Given the description of an element on the screen output the (x, y) to click on. 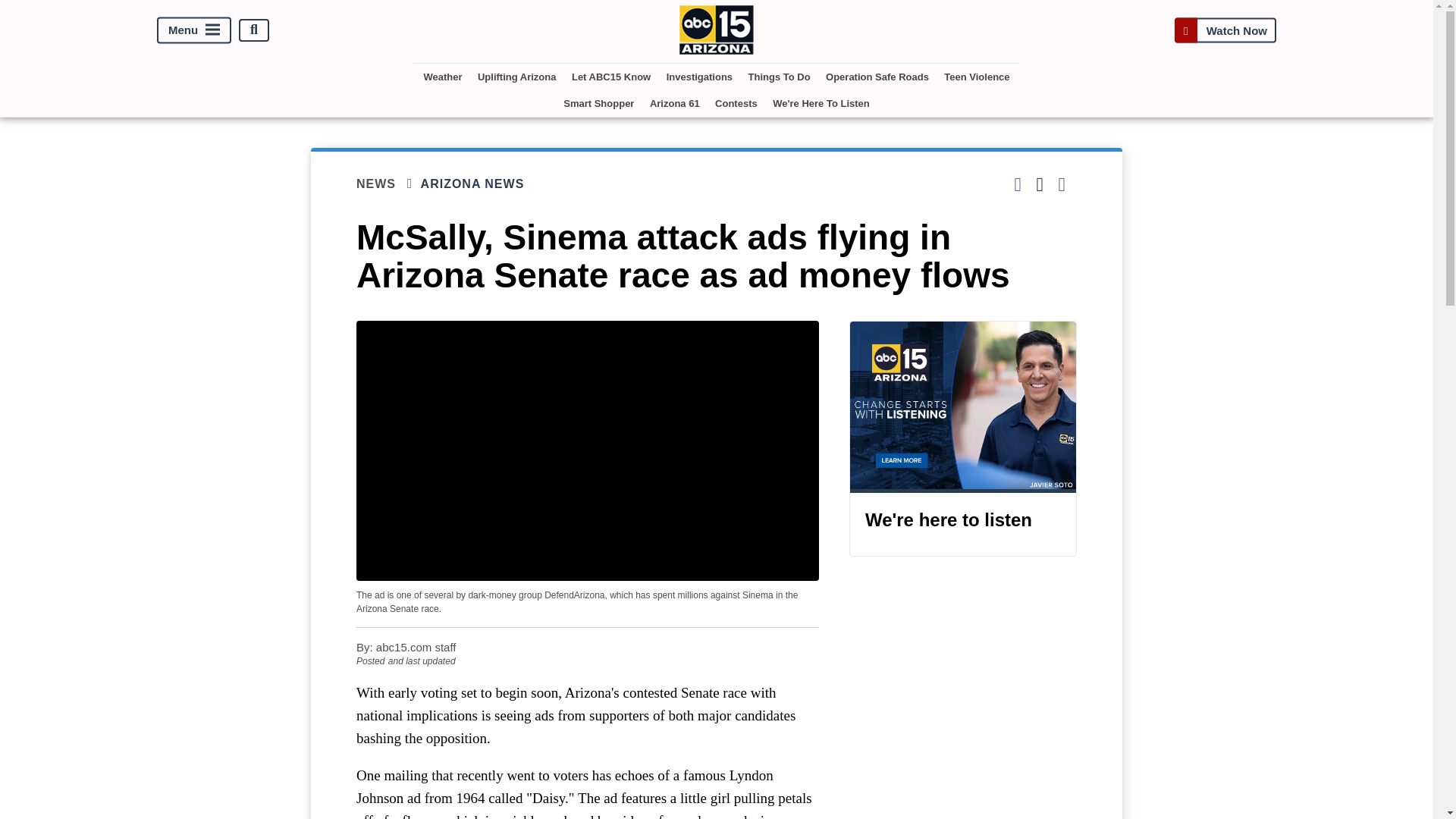
Watch Now (1224, 29)
Menu (194, 29)
